Given the description of an element on the screen output the (x, y) to click on. 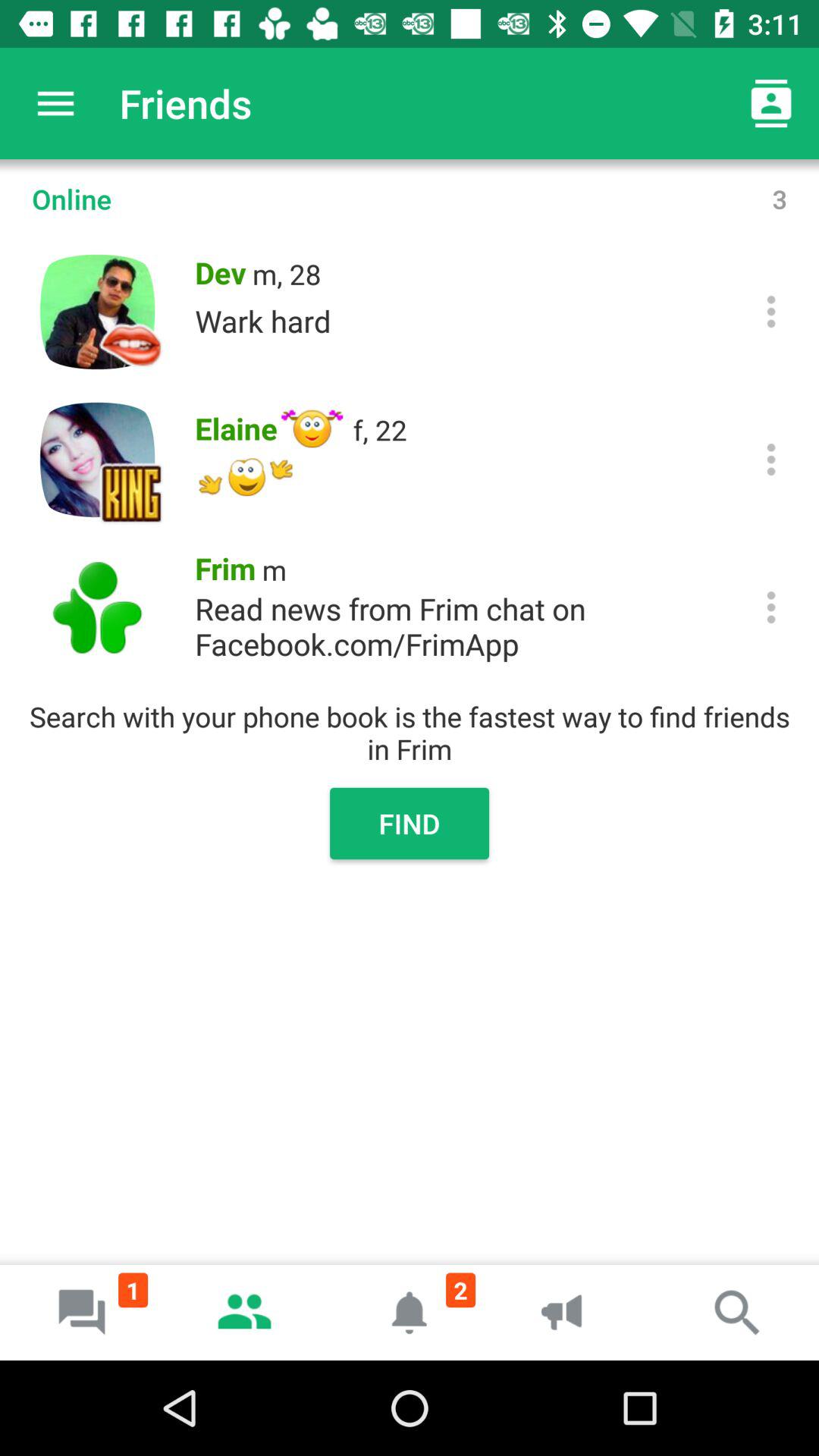
more information gathering (771, 459)
